Given the description of an element on the screen output the (x, y) to click on. 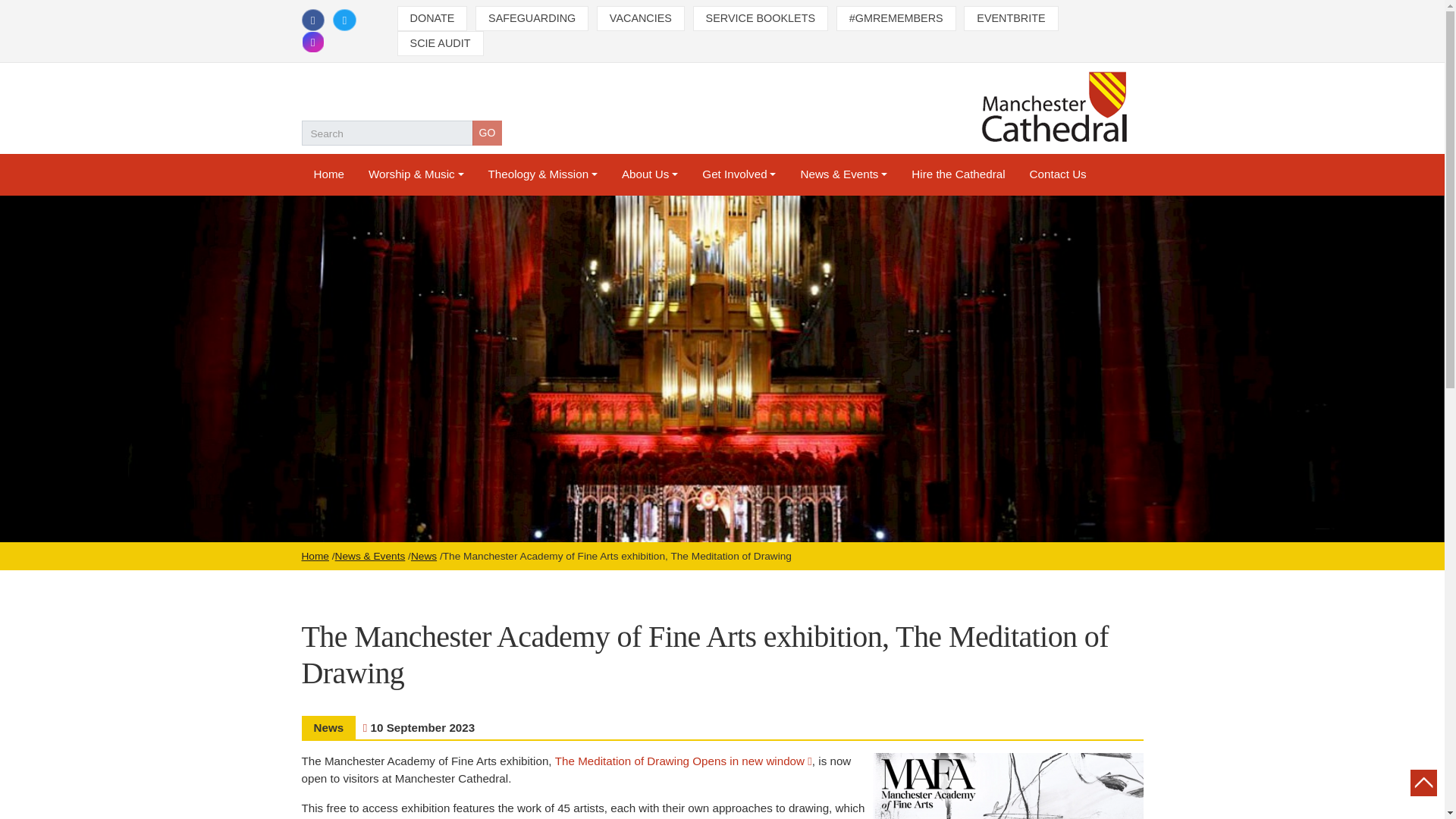
Vacancies (640, 18)
SERVICE BOOKLETS (760, 18)
SAFEGUARDING (532, 18)
Connect with Manchester Cathedral on Twitter (344, 20)
Home (328, 174)
VACANCIES (640, 18)
Safeguarding (532, 18)
Donating (432, 18)
Service Booklets (760, 18)
Connect with Manchester Cathedral on Facebook (312, 20)
Eventbrite (1010, 18)
Connect with Manchester Cathedral on Instagram (312, 42)
GO (486, 132)
DONATE (432, 18)
SCIE audit (440, 43)
